Given the description of an element on the screen output the (x, y) to click on. 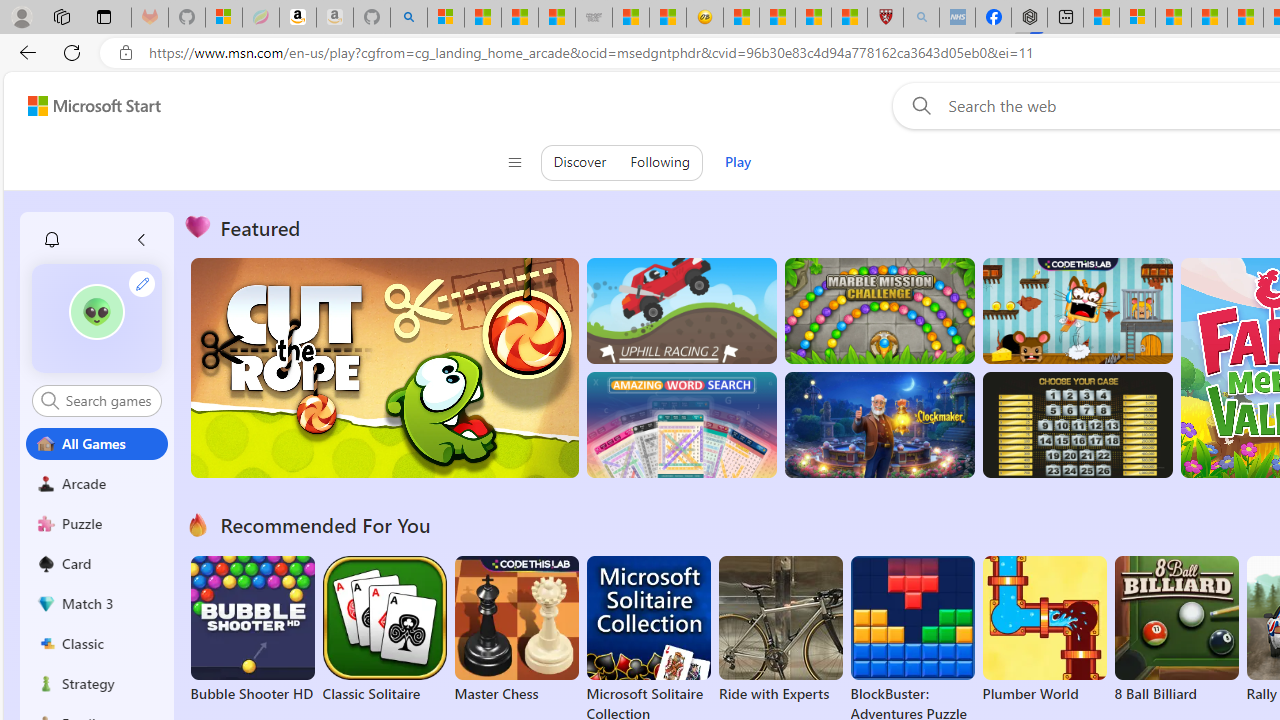
Robert H. Shmerling, MD - Harvard Health (884, 17)
Plumber World (1044, 629)
Class: control icon-only (514, 162)
Amazing Word Search (681, 425)
